Given the description of an element on the screen output the (x, y) to click on. 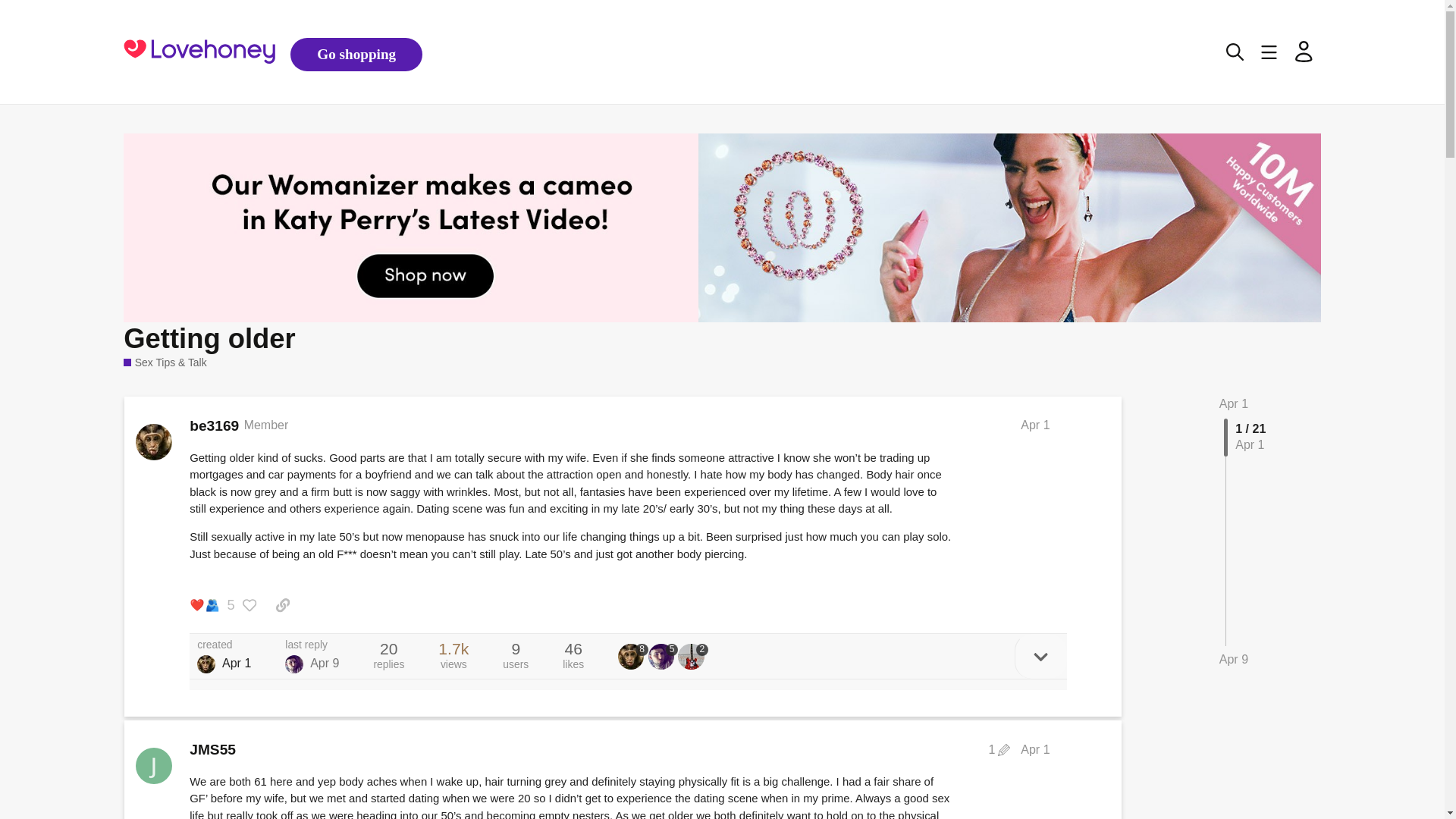
copy a link to this post to clipboard (282, 605)
Post date (1034, 424)
be3169 (205, 664)
Apr 9 (1233, 659)
Apr 1 (1034, 748)
1 (999, 749)
8 (632, 656)
Apr 1 (1034, 424)
Apr 1 (1233, 403)
last reply (312, 644)
5 (662, 656)
Jump to the last post (1233, 658)
be3169 (213, 425)
2 (692, 656)
